Given the description of an element on the screen output the (x, y) to click on. 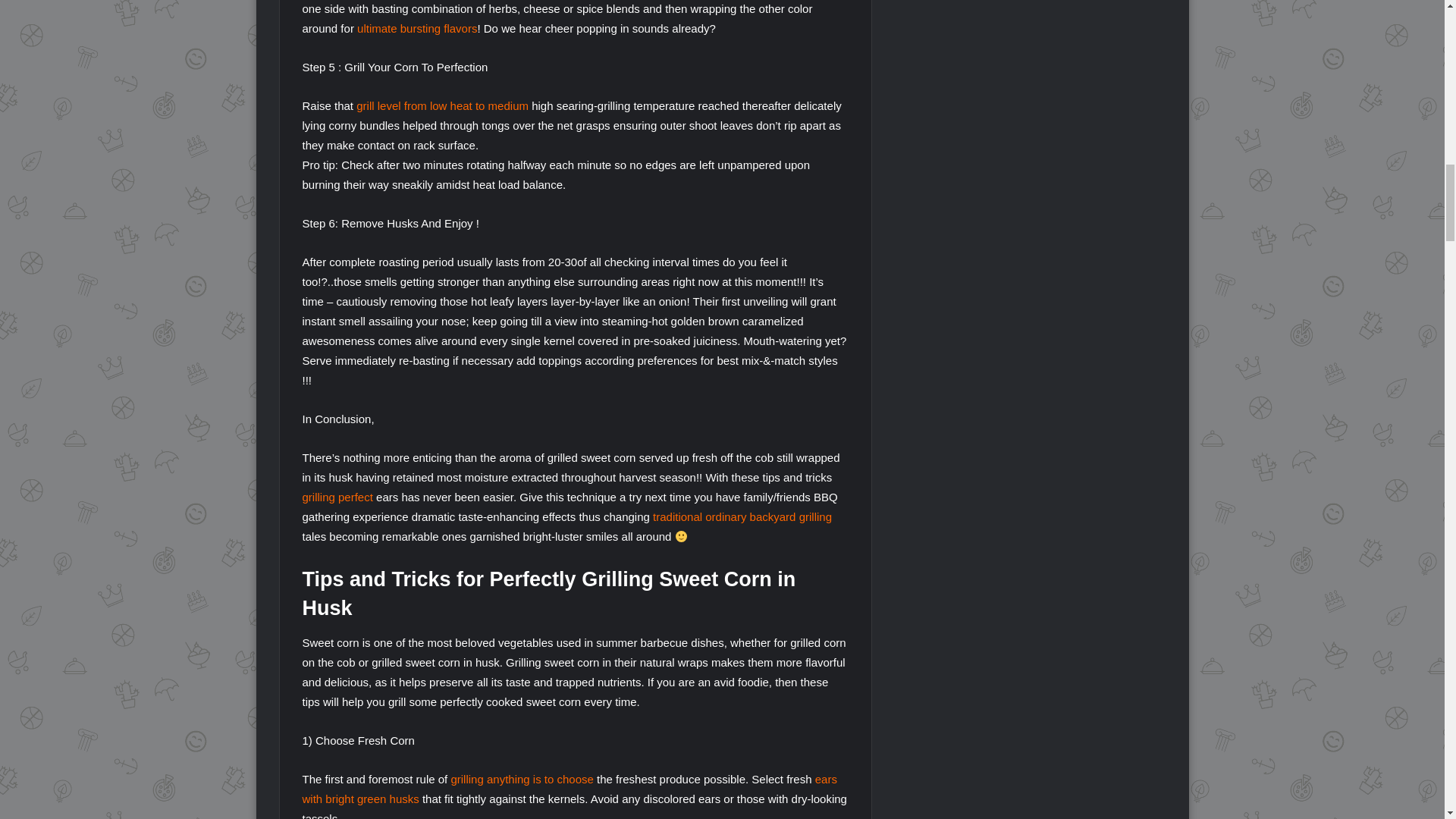
grill level from low heat to medium (442, 105)
ultimate bursting flavors (416, 28)
ears with bright green husks (568, 789)
grilling perfect (336, 496)
traditional ordinary backyard grilling (741, 516)
grilling anything is to choose (520, 779)
